Given the description of an element on the screen output the (x, y) to click on. 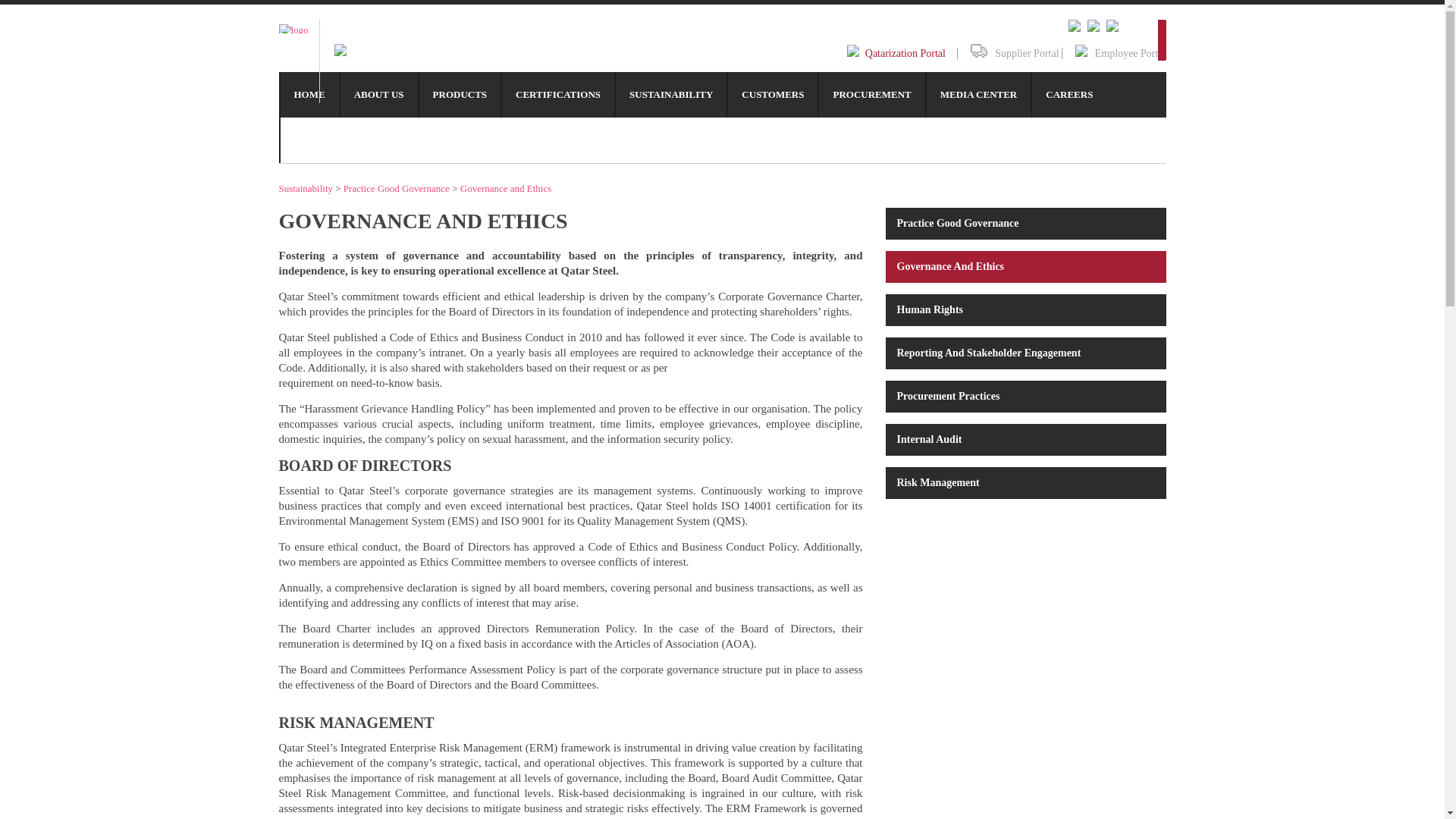
Supplier Portal (1007, 52)
PRODUCTS (459, 94)
ABOUT US (378, 94)
Qatarization Portal (895, 54)
Work From Home (1093, 28)
Employee Portal (1113, 52)
logo (293, 28)
HOME (310, 94)
